Given the description of an element on the screen output the (x, y) to click on. 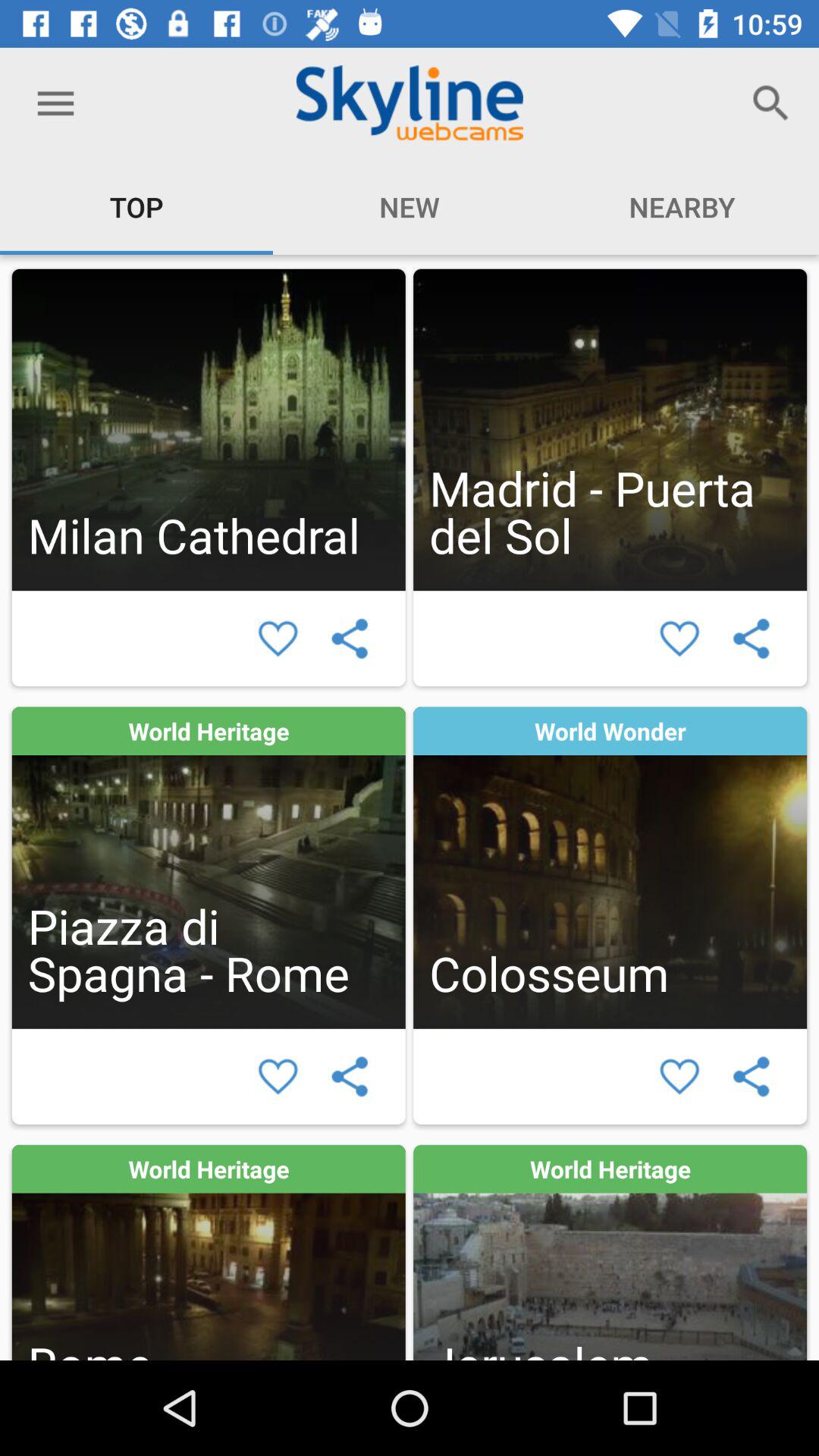
launch the item above the top item (55, 103)
